Given the description of an element on the screen output the (x, y) to click on. 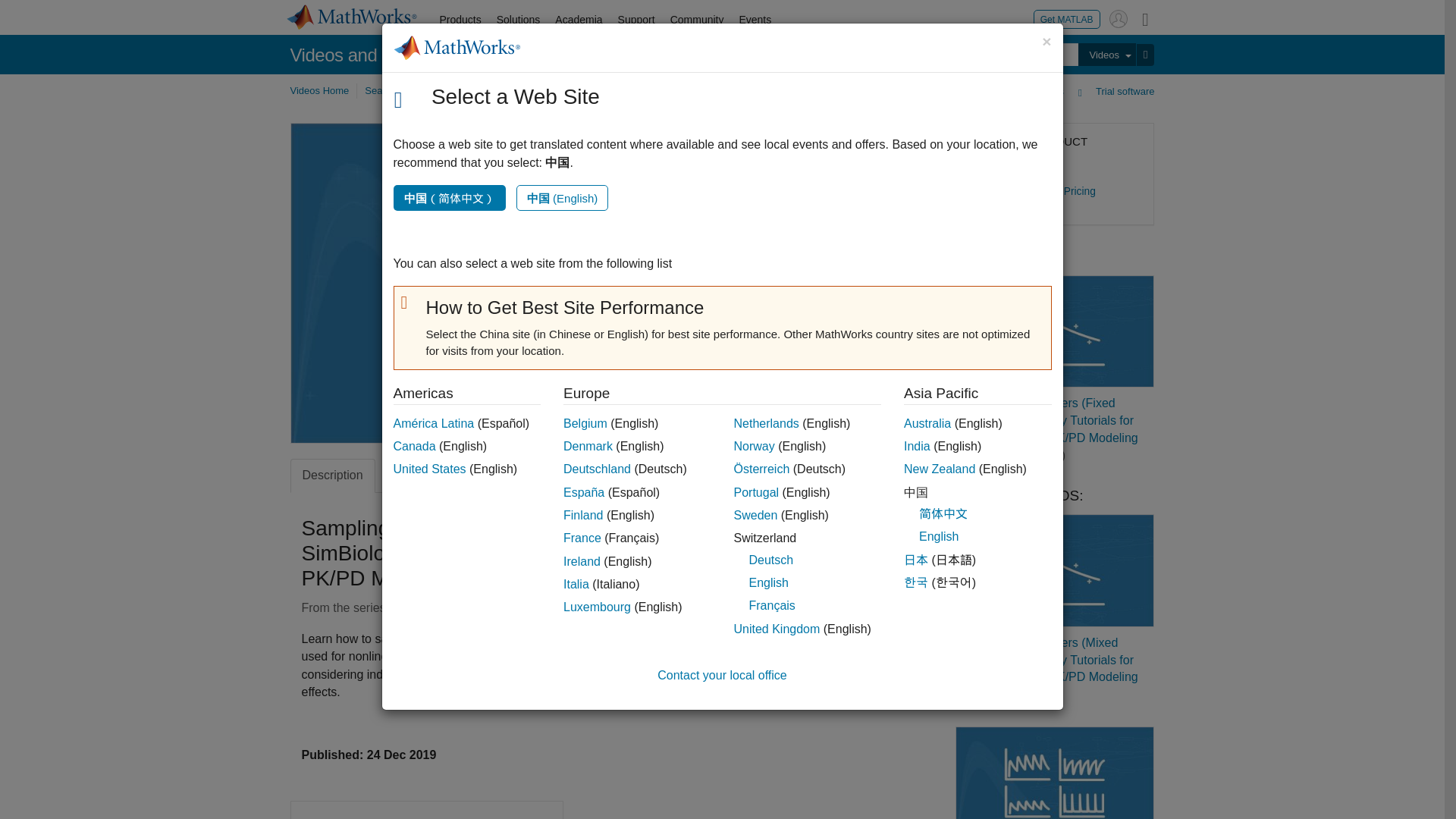
Play Video (574, 282)
Events (754, 19)
Get MATLAB (1066, 18)
Products (460, 19)
Sign In to Your MathWorks Account (1117, 18)
Solutions (518, 19)
Academia (578, 19)
Community (697, 19)
Support (636, 19)
